Given the description of an element on the screen output the (x, y) to click on. 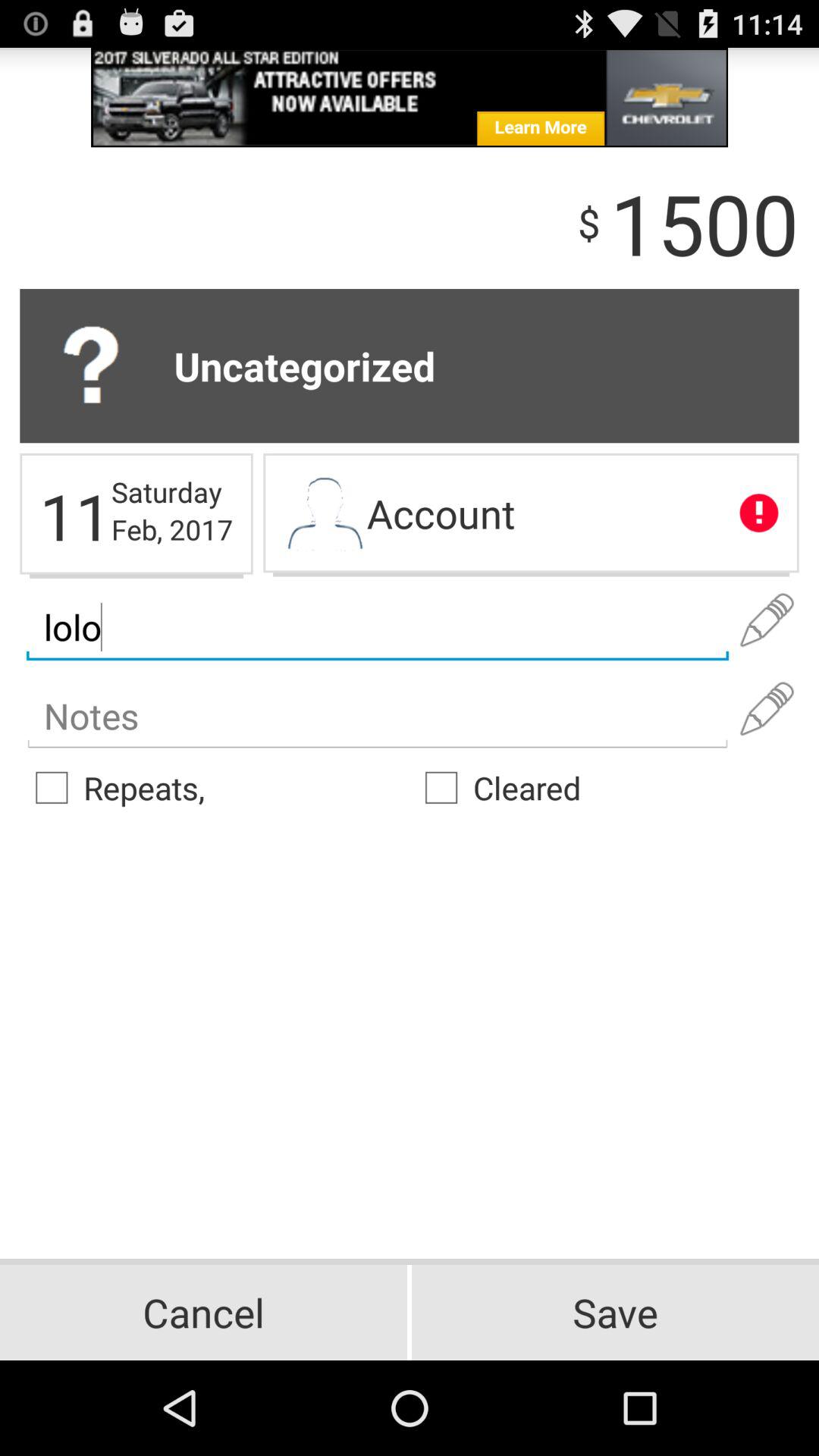
edit (767, 709)
